Given the description of an element on the screen output the (x, y) to click on. 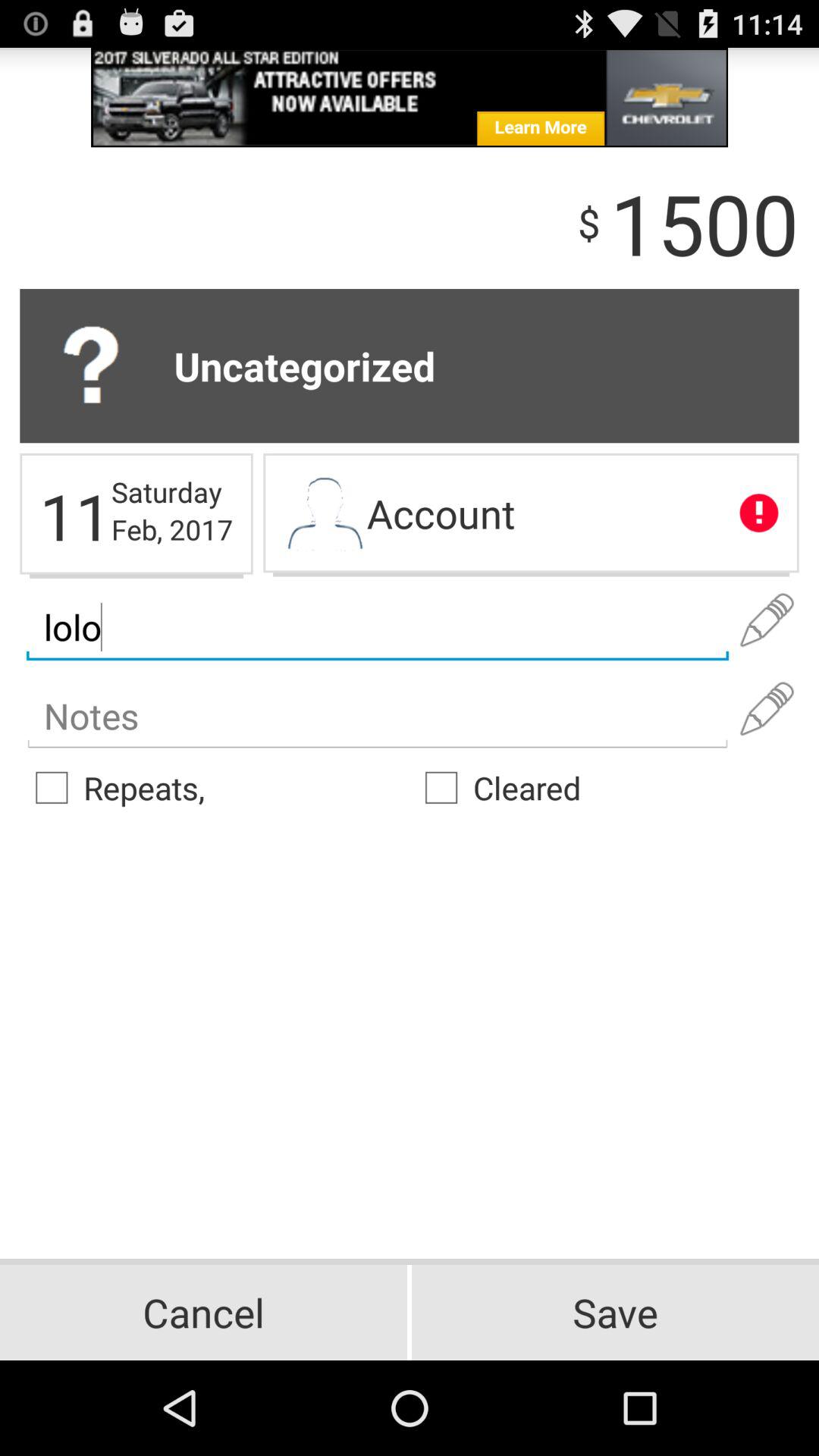
edit (767, 709)
